Given the description of an element on the screen output the (x, y) to click on. 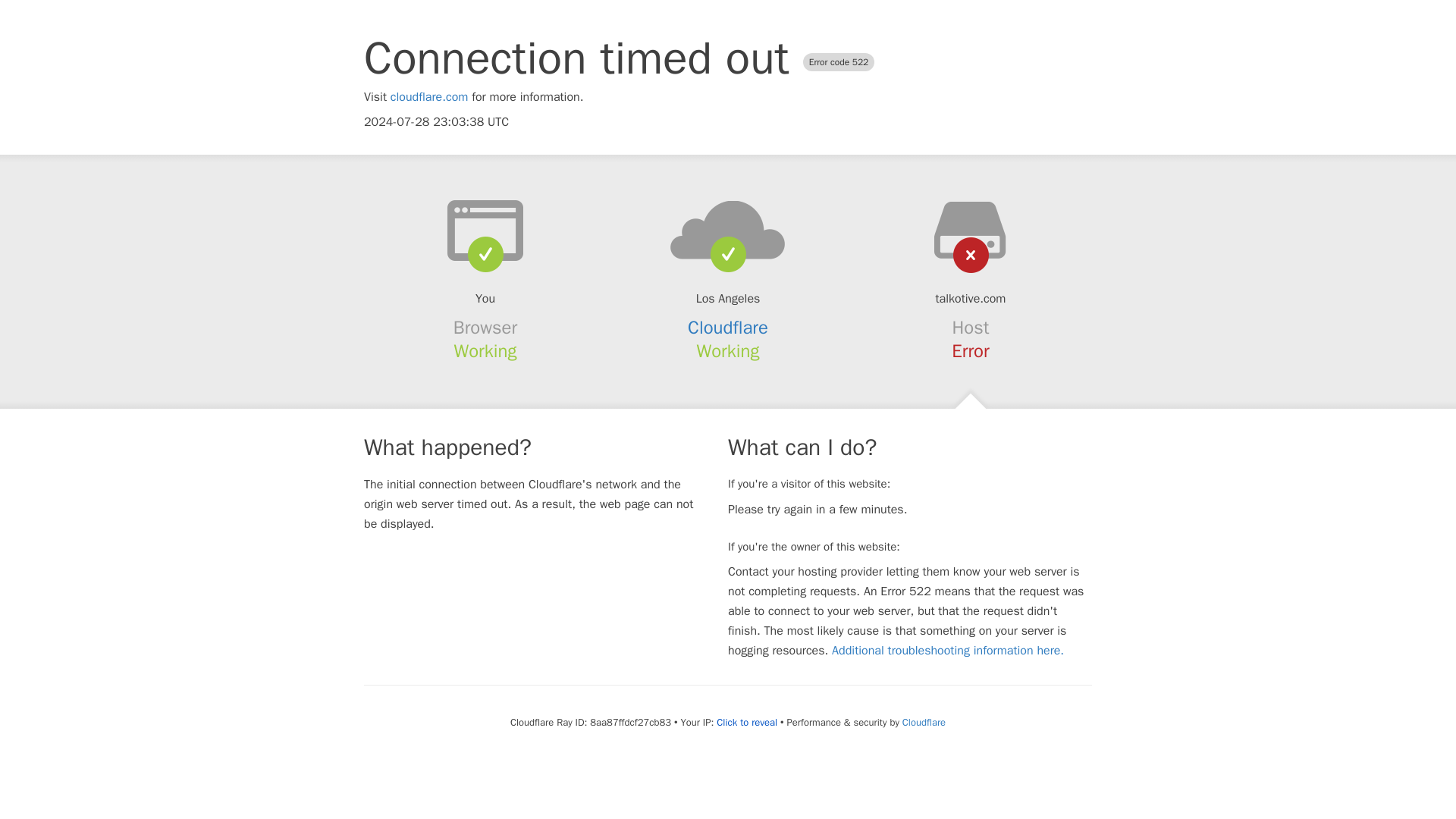
Cloudflare (923, 721)
Additional troubleshooting information here. (947, 650)
Click to reveal (746, 722)
Cloudflare (727, 327)
cloudflare.com (429, 96)
